Given the description of an element on the screen output the (x, y) to click on. 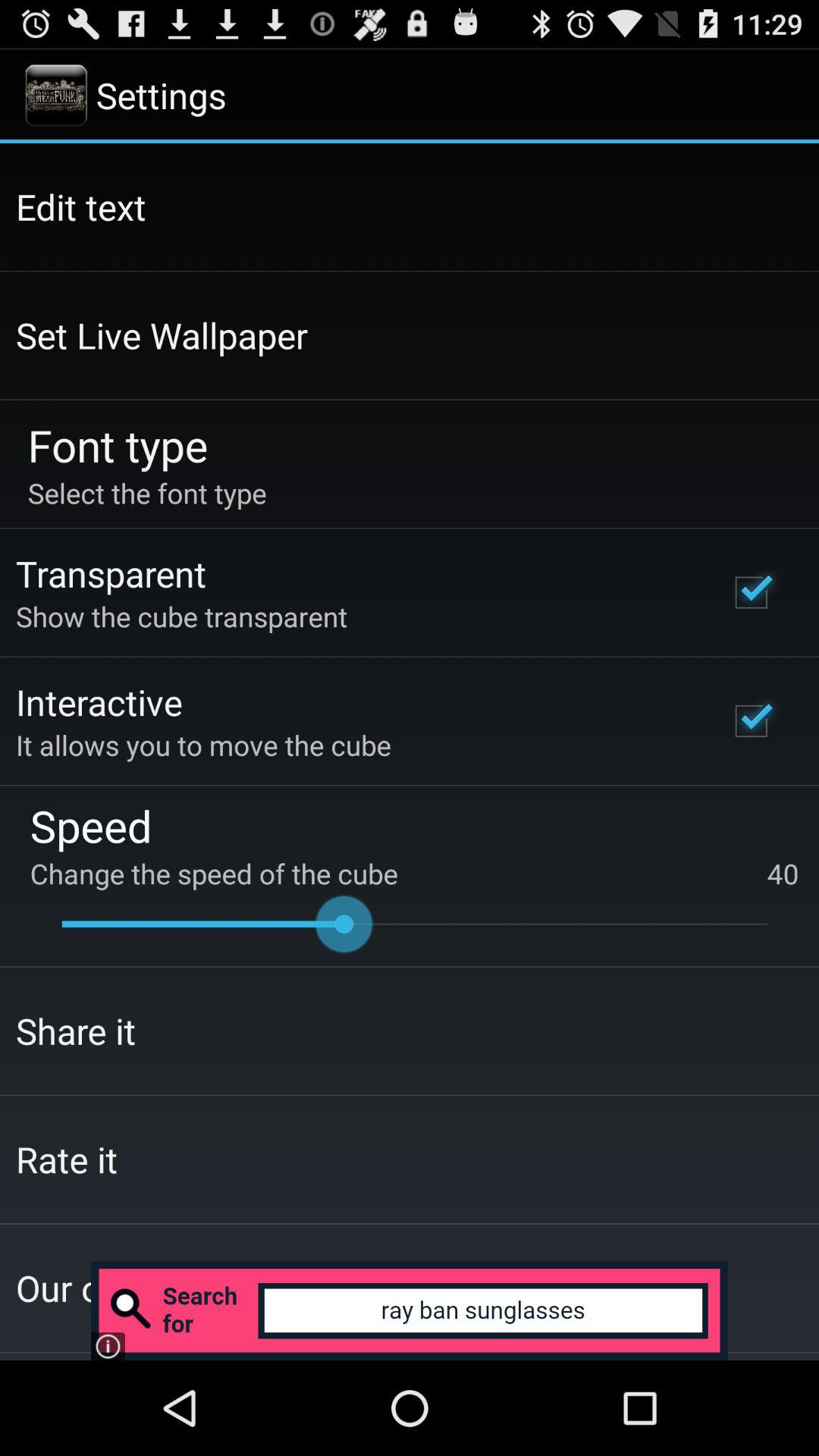
choose the icon below change the speed (414, 924)
